Given the description of an element on the screen output the (x, y) to click on. 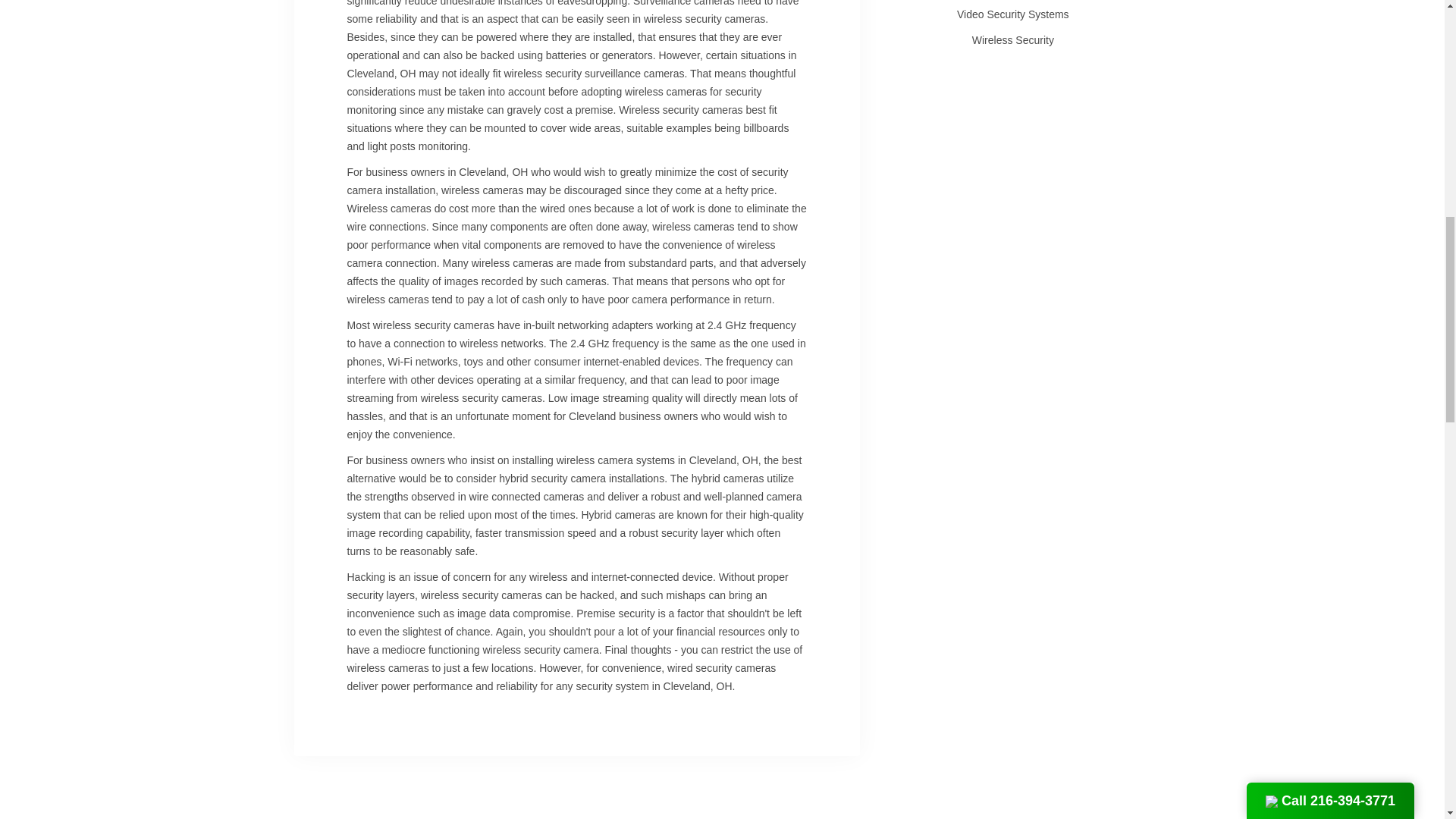
View all posts filed under Video Security Systems (1012, 13)
View all posts filed under Wireless Security (1012, 40)
